Given the description of an element on the screen output the (x, y) to click on. 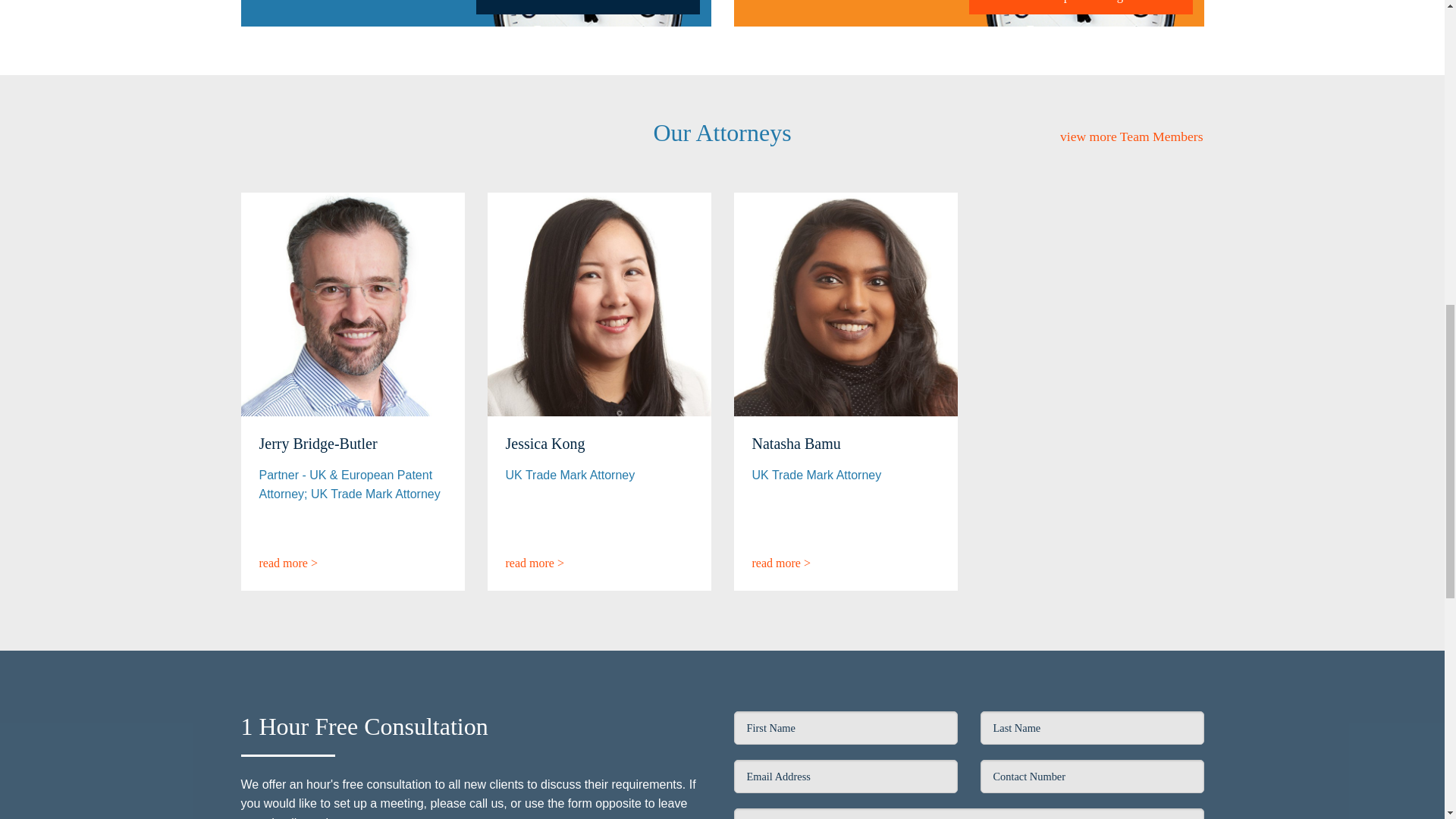
Get in touch (588, 6)
view more Team Members (1131, 136)
Set up a meeting (1080, 6)
